Given the description of an element on the screen output the (x, y) to click on. 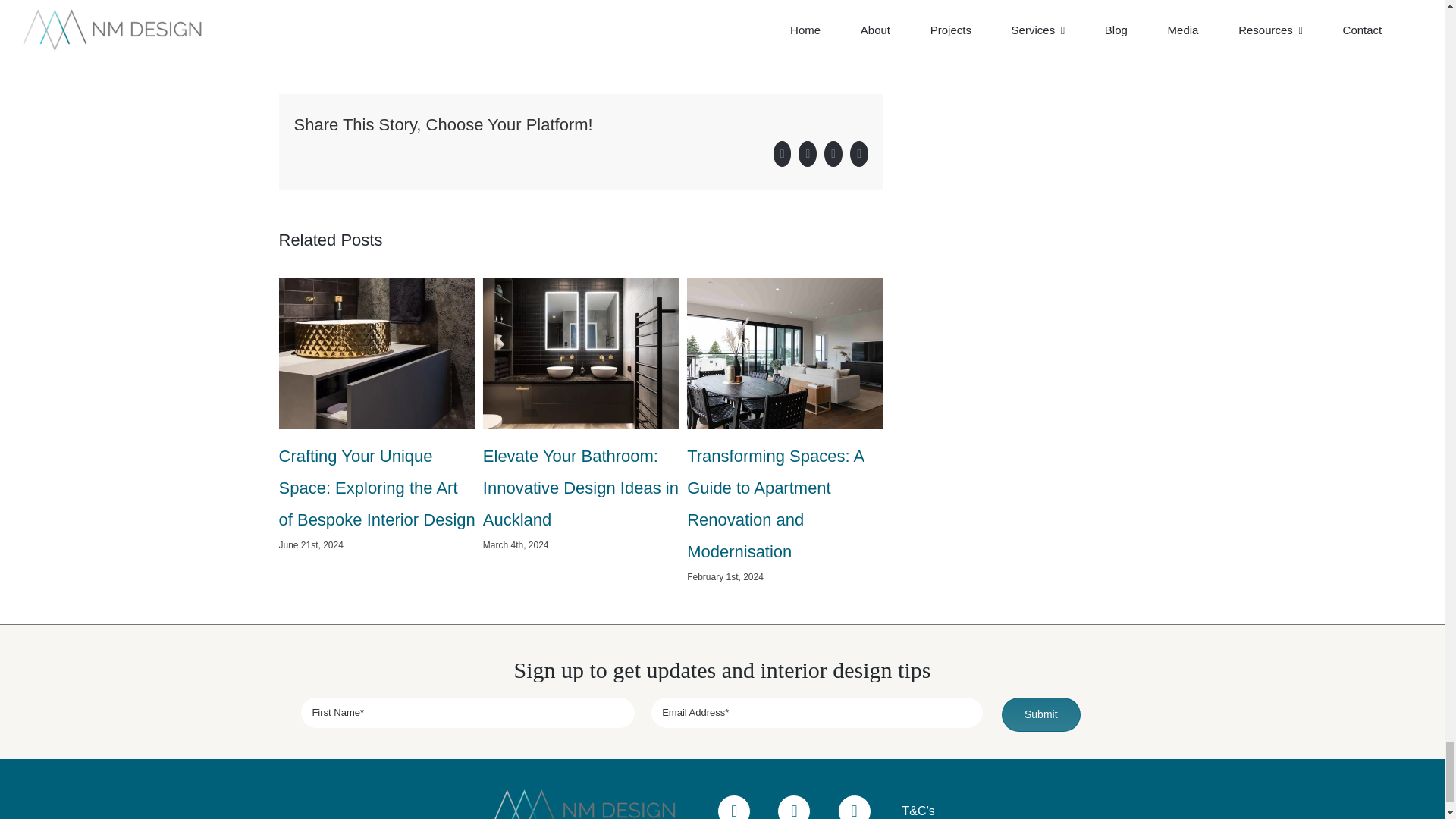
Submit (722, 713)
0 Comments (465, 35)
Posts by Nicola Manning (323, 35)
nmdesign-logo-440 (588, 804)
Nicola Manning (323, 35)
Elevate Your Bathroom: Innovative Design Ideas in Auckland (580, 487)
